Given the description of an element on the screen output the (x, y) to click on. 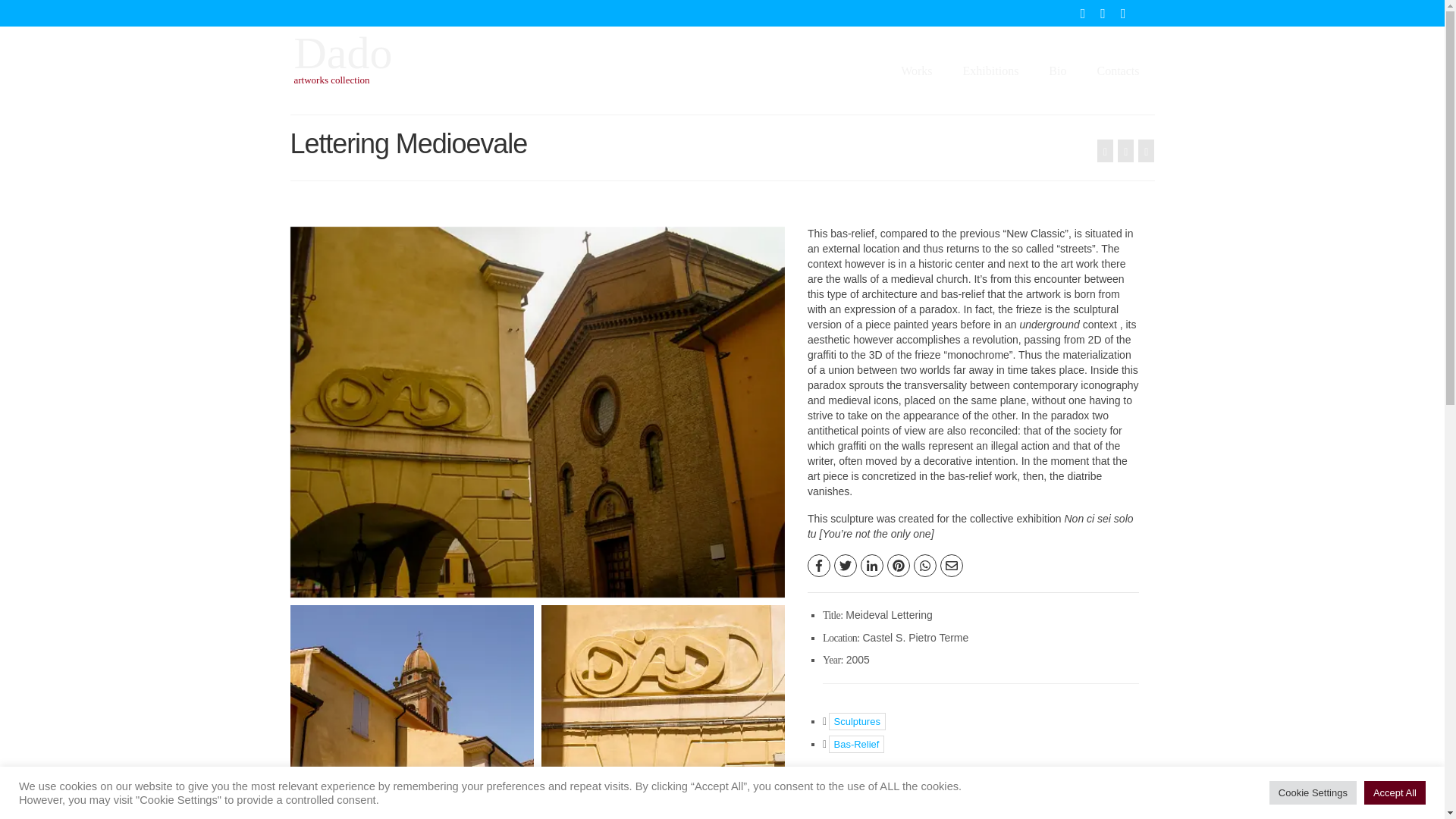
Exhibitions (990, 70)
Works (916, 70)
Dado (343, 52)
Sculptures (856, 721)
Contacts (1117, 70)
Accept All (1394, 792)
Cookie Settings (1312, 792)
Bas-Relief (855, 743)
Dado (343, 52)
Bio (1057, 70)
